Given the description of an element on the screen output the (x, y) to click on. 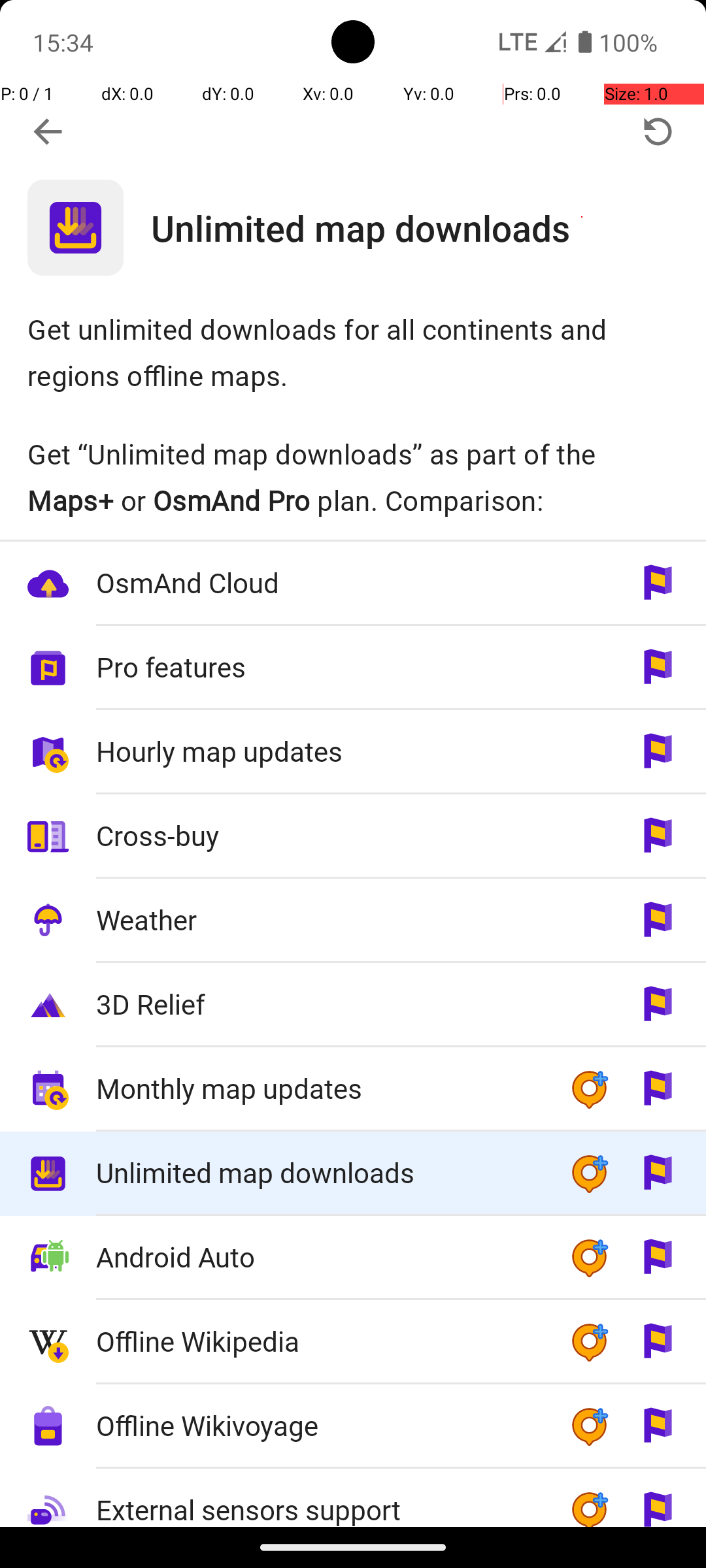
Unlimited map downloads Element type: android.widget.TextView (428, 227)
Restore purchases Element type: android.widget.ImageButton (657, 131)
Get unlimited downloads for all continents and regions offline maps. Element type: android.widget.TextView (353, 351)
Get “Unlimited map downloads” as part of the Maps+ or OsmAnd Pro plan. Comparison: Element type: android.widget.TextView (353, 476)
OsmAnd Cloud available as part of the OsmAnd Pro plan Element type: android.widget.LinearLayout (353, 583)
Pro features available as part of the OsmAnd Pro plan Element type: android.widget.LinearLayout (353, 667)
Hourly map updates available as part of the OsmAnd Pro plan Element type: android.widget.LinearLayout (353, 752)
Cross-buy available as part of the OsmAnd Pro plan Element type: android.widget.LinearLayout (353, 836)
Weather available as part of the OsmAnd Pro plan Element type: android.widget.LinearLayout (353, 920)
3D Relief available as part of the OsmAnd Pro plan Element type: android.widget.LinearLayout (353, 1005)
Monthly map updates available as part of the OsmAnd+ or OsmAnd Pro plan Element type: android.widget.LinearLayout (353, 1089)
Unlimited map downloads available as part of the OsmAnd+ or OsmAnd Pro plan Element type: android.widget.LinearLayout (353, 1173)
Android Auto available as part of the OsmAnd+ or OsmAnd Pro plan Element type: android.widget.LinearLayout (353, 1257)
Offline Wikipedia available as part of the OsmAnd+ or OsmAnd Pro plan Element type: android.widget.LinearLayout (353, 1342)
Offline Wikivoyage available as part of the OsmAnd+ or OsmAnd Pro plan Element type: android.widget.LinearLayout (353, 1426)
External sensors support available as part of the OsmAnd+ or OsmAnd Pro plan Element type: android.widget.LinearLayout (353, 1497)
OsmAnd Cloud Element type: android.widget.TextView (318, 581)
Pro features Element type: android.widget.TextView (318, 666)
Hourly map updates Element type: android.widget.TextView (318, 750)
Cross-buy Element type: android.widget.TextView (318, 834)
Weather Element type: android.widget.TextView (318, 919)
3D Relief Element type: android.widget.TextView (318, 1003)
Monthly map updates Element type: android.widget.TextView (318, 1087)
Android Auto Element type: android.widget.TextView (318, 1256)
Offline Wikipedia Element type: android.widget.TextView (318, 1340)
Offline Wikivoyage Element type: android.widget.TextView (318, 1424)
External sensors support Element type: android.widget.TextView (318, 1498)
